Given the description of an element on the screen output the (x, y) to click on. 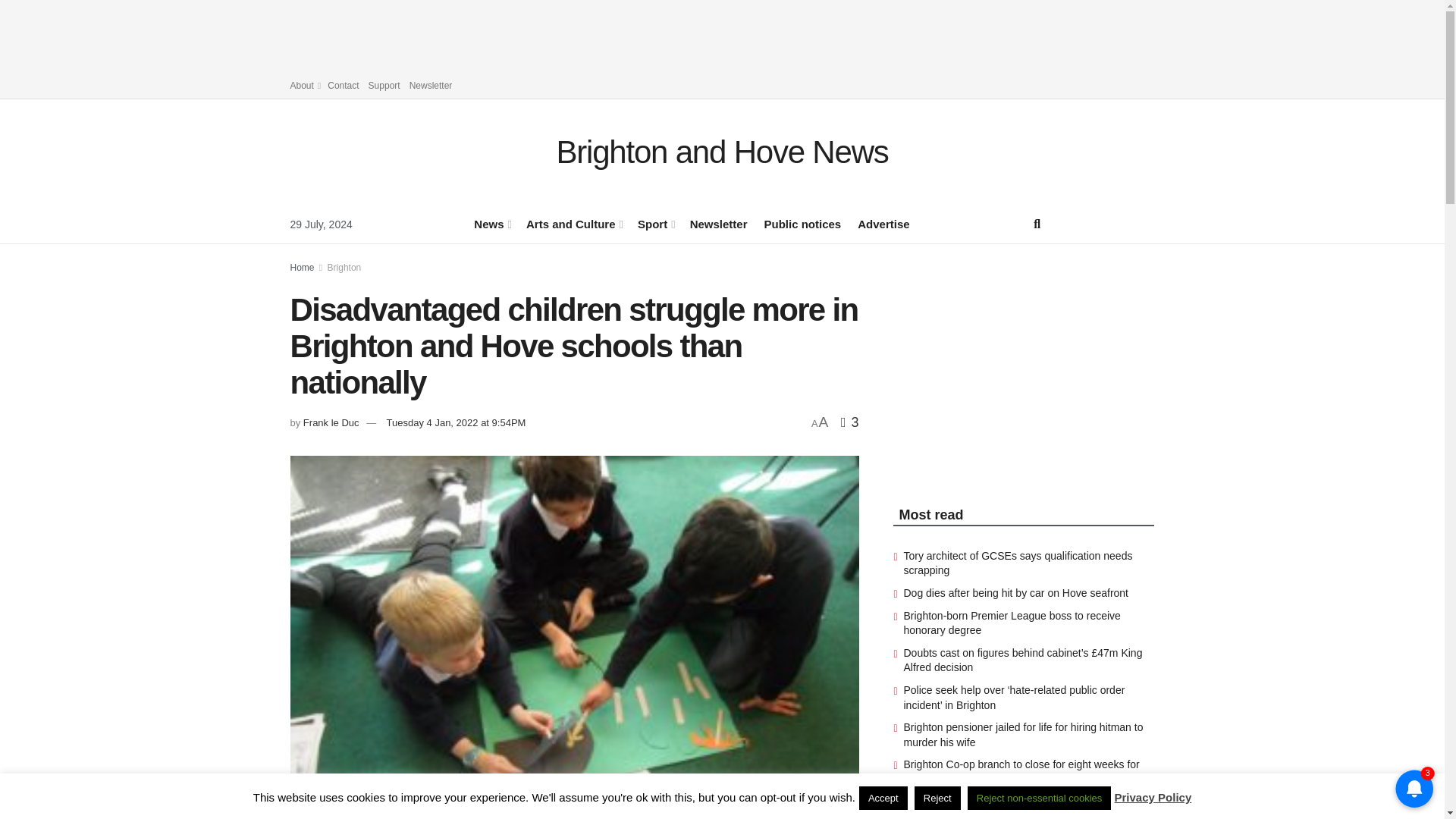
Newsletter (719, 223)
Public notices (802, 223)
Newsletter (430, 85)
Contact (342, 85)
Arts and Culture (573, 223)
Advertise (882, 223)
Sport (654, 223)
About (303, 85)
News (491, 223)
Support (384, 85)
Advertisement (988, 361)
Brighton and Hove News (722, 152)
Advertisement (722, 33)
